Given the description of an element on the screen output the (x, y) to click on. 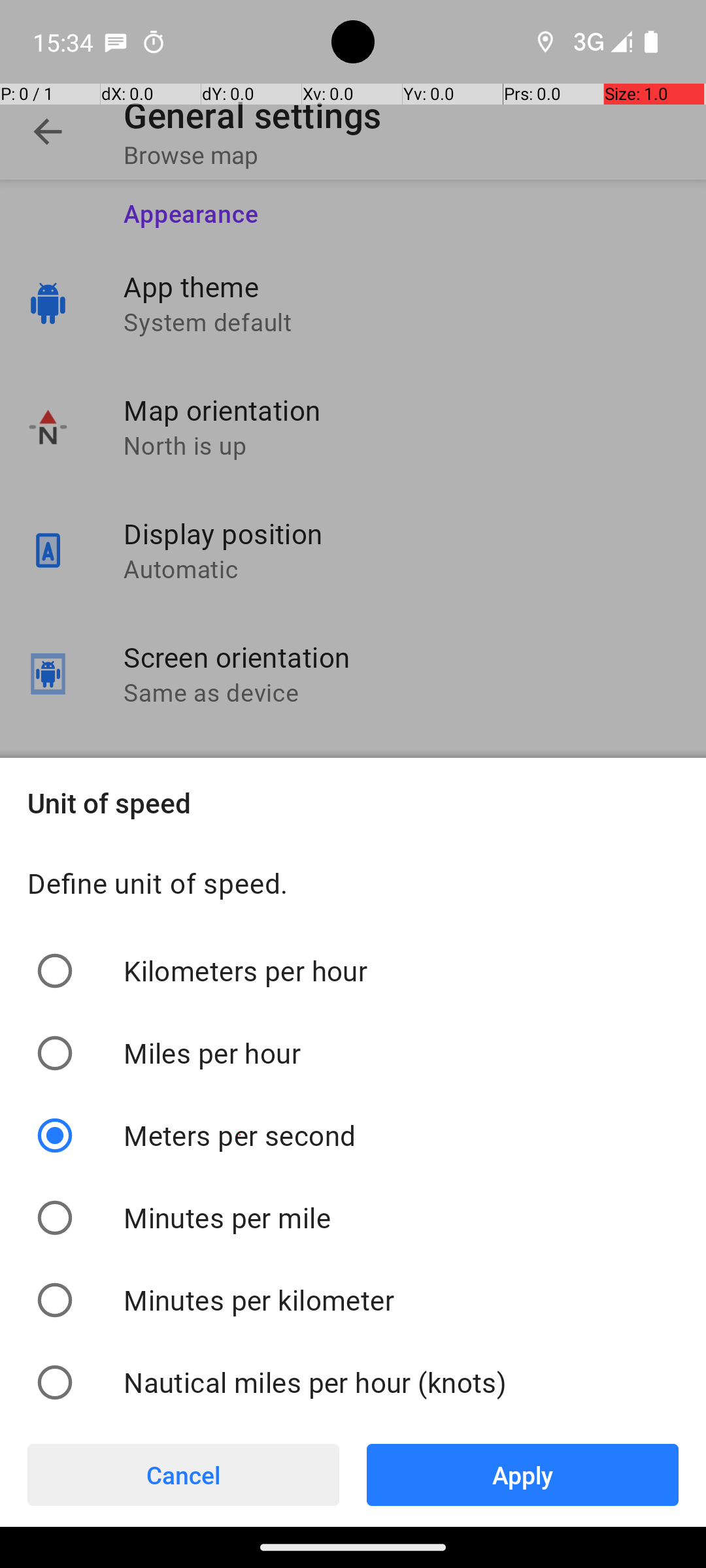
Unit of speed Element type: android.widget.TextView (353, 802)
Define unit of speed. Element type: android.widget.TextView (353, 888)
Kilometers per hour Element type: android.widget.TextView (245, 970)
Miles per hour Element type: android.widget.TextView (211, 1052)
Meters per second Element type: android.widget.TextView (239, 1134)
Minutes per mile Element type: android.widget.TextView (226, 1217)
Minutes per kilometer Element type: android.widget.TextView (258, 1299)
Nautical miles per hour (knots) Element type: android.widget.TextView (315, 1381)
SMS Messenger notification: +17247648679 Element type: android.widget.ImageView (115, 41)
